Given the description of an element on the screen output the (x, y) to click on. 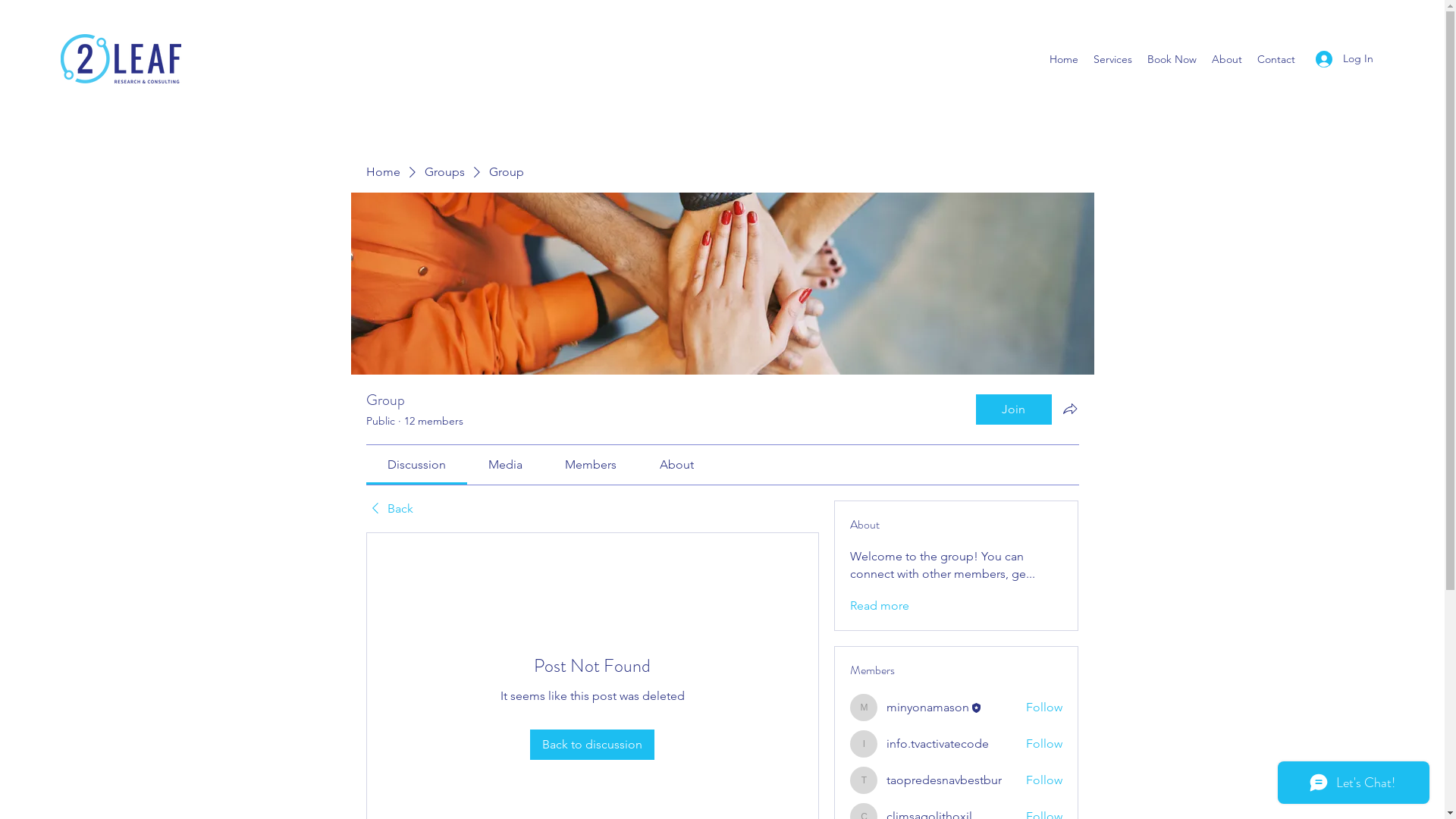
Join Element type: text (1013, 409)
Log In Element type: text (1344, 58)
Services Element type: text (1112, 58)
About Element type: text (1226, 58)
Back Element type: text (388, 508)
Groups Element type: text (444, 171)
Contact Element type: text (1275, 58)
T Element type: text (863, 779)
Home Element type: text (1063, 58)
Read more Element type: text (879, 605)
taopredesnavbestbur Element type: text (943, 779)
Back to discussion Element type: text (592, 744)
M Element type: text (863, 707)
I Element type: text (863, 743)
Book Now Element type: text (1171, 58)
Follow Element type: text (1044, 707)
minyonamason Element type: text (927, 706)
info.tvactivatecode Element type: text (937, 743)
Follow Element type: text (1044, 779)
Home Element type: text (382, 171)
Follow Element type: text (1044, 743)
